Given the description of an element on the screen output the (x, y) to click on. 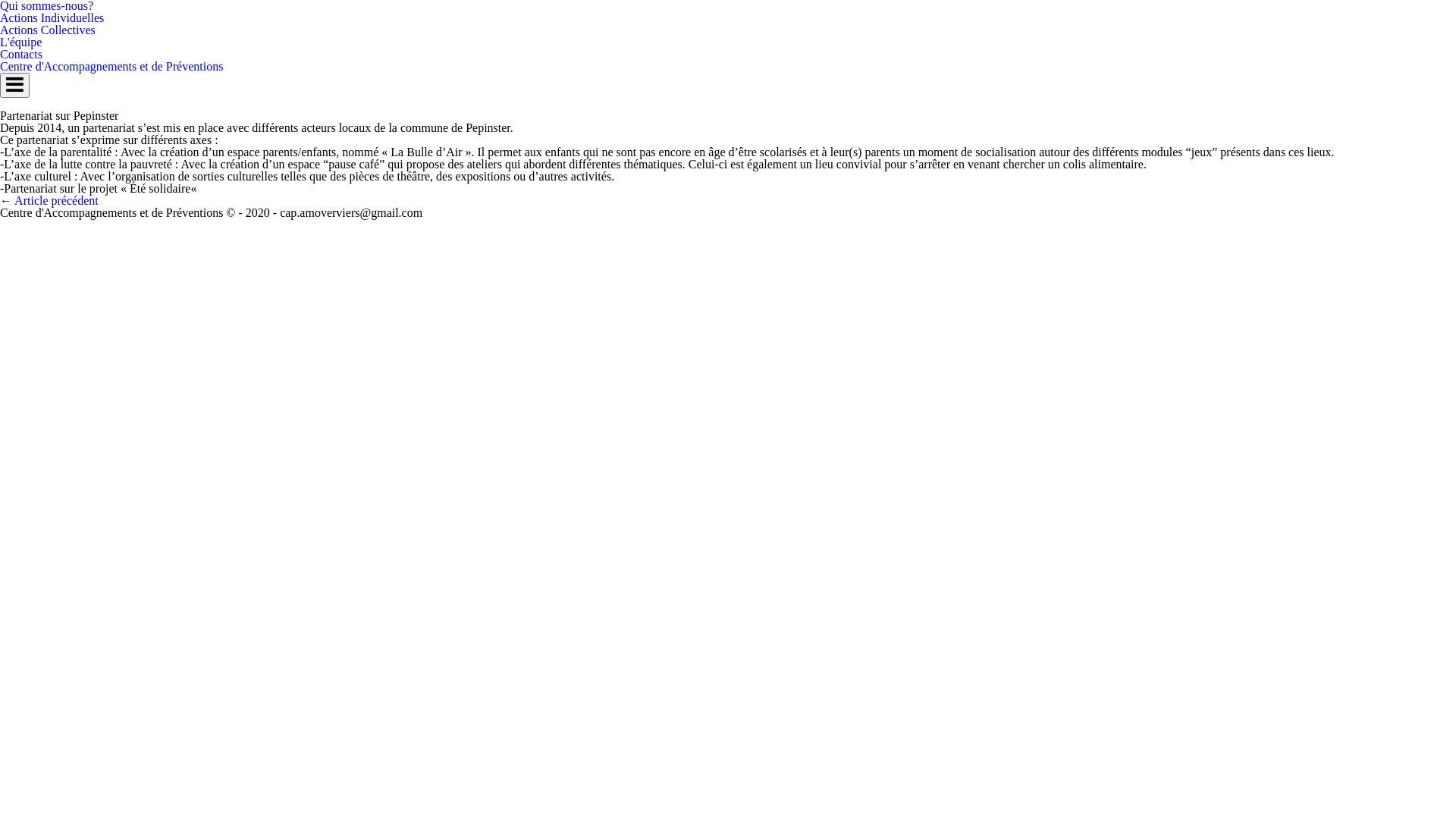
Contacts Element type: text (21, 53)
Actions Collectives Element type: text (47, 29)
Actions Individuelles Element type: text (51, 17)
